Given the description of an element on the screen output the (x, y) to click on. 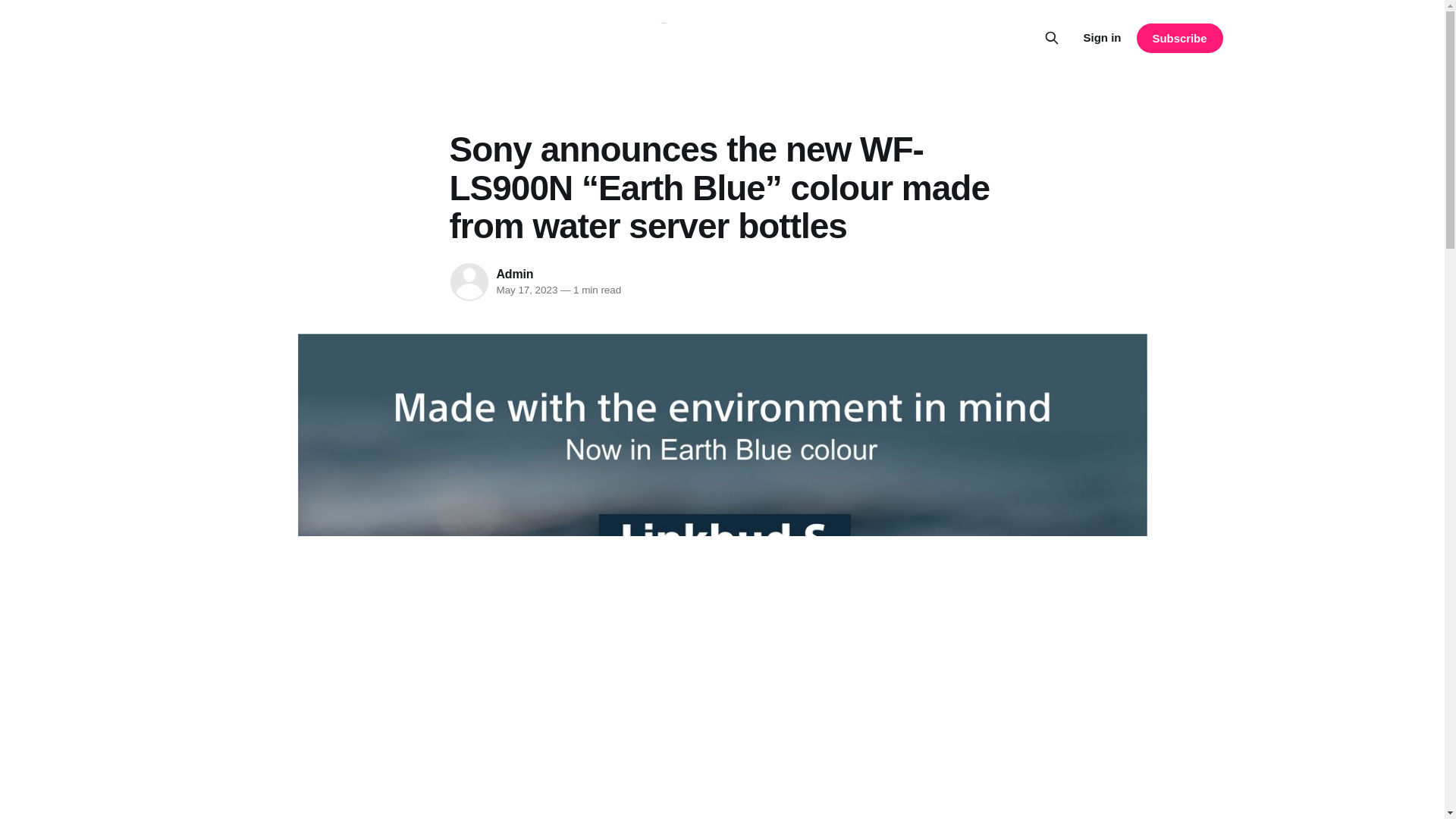
Sign in (1102, 37)
Subscribe (1179, 37)
Admin (514, 273)
